Given the description of an element on the screen output the (x, y) to click on. 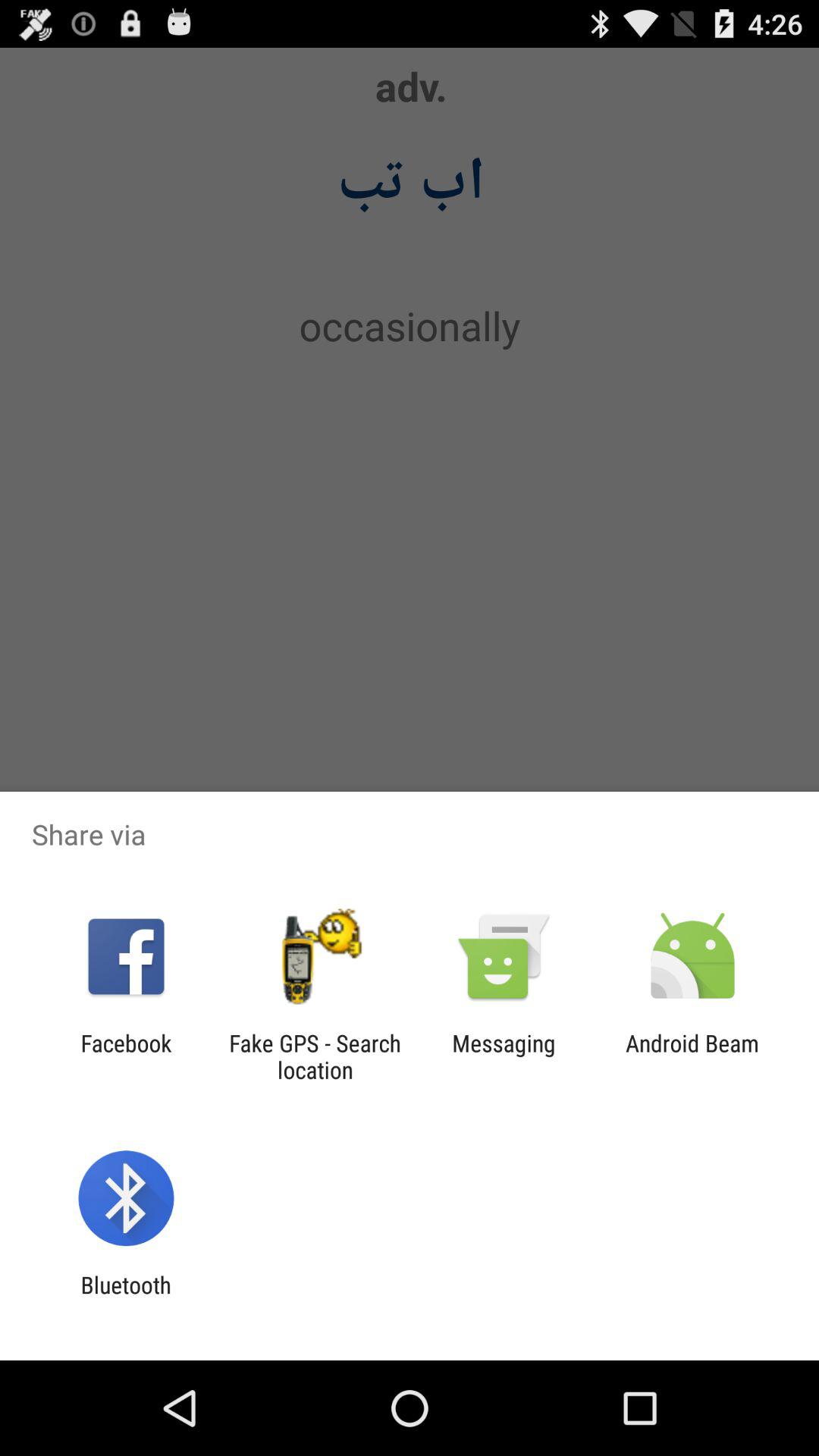
tap messaging (503, 1056)
